Given the description of an element on the screen output the (x, y) to click on. 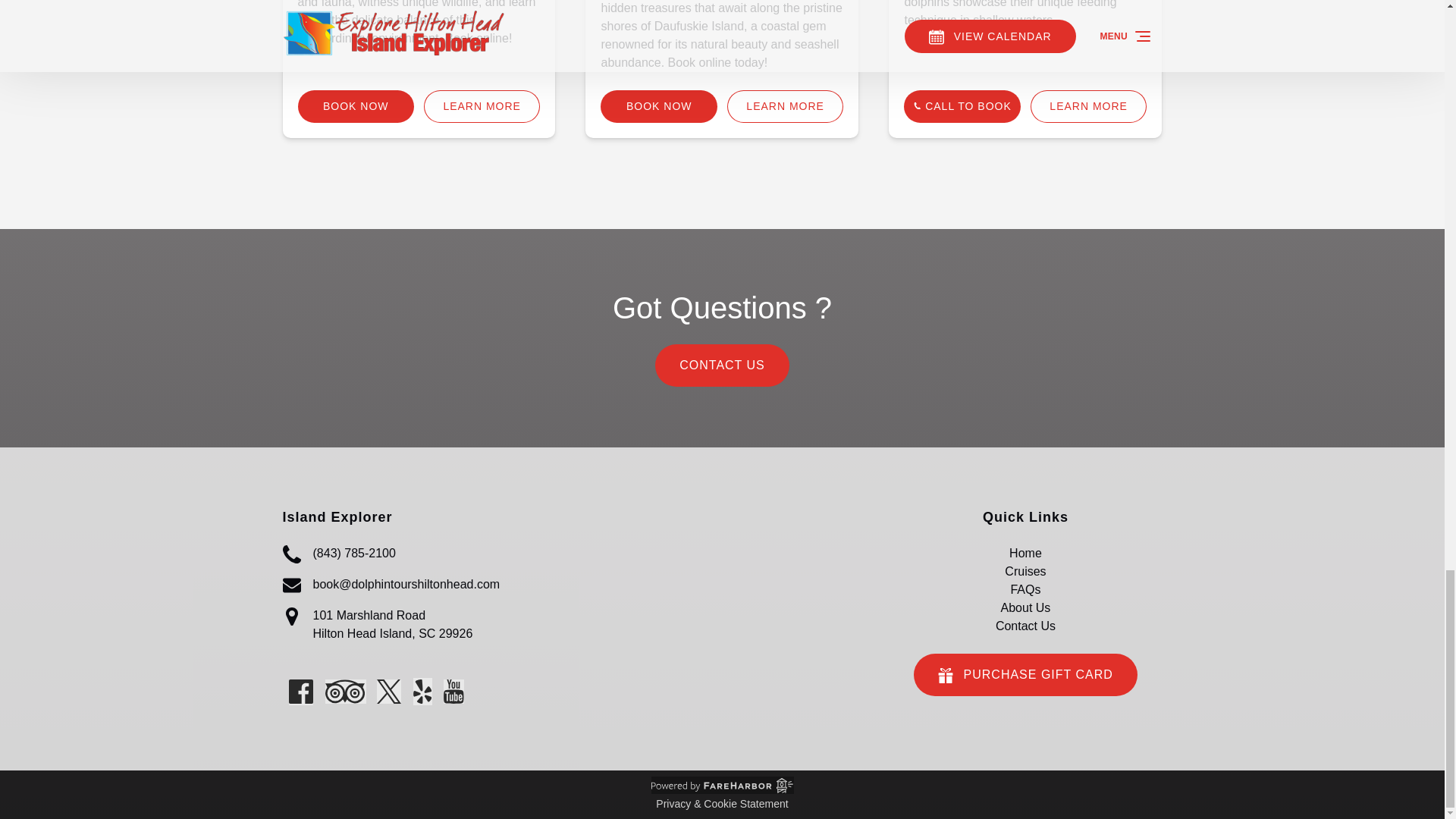
Envelope (290, 585)
Phone (290, 554)
Map Marker (290, 616)
